Given the description of an element on the screen output the (x, y) to click on. 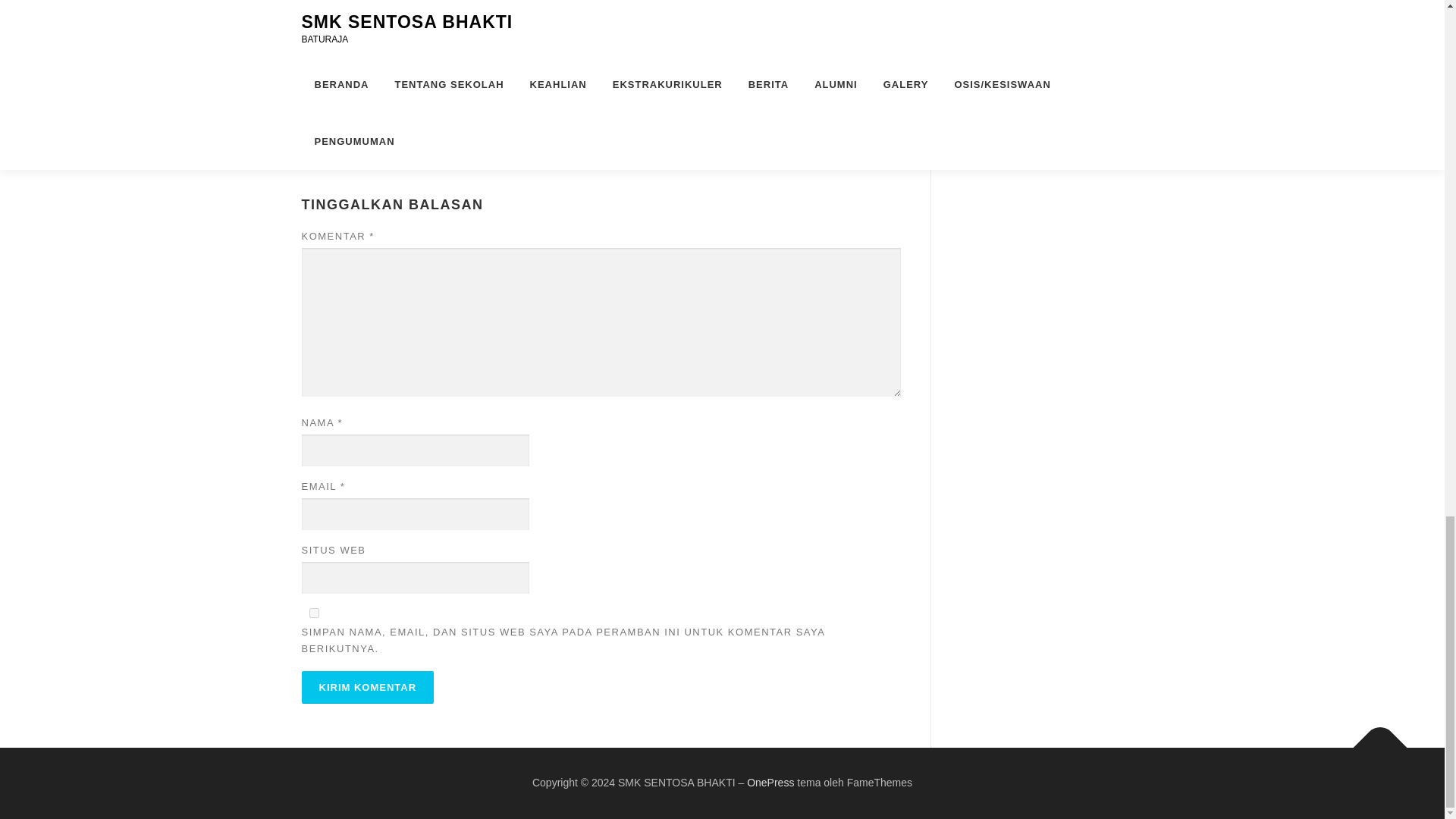
Kembali ke Atas (1372, 740)
Kirim Komentar (367, 686)
yes (313, 613)
